Given the description of an element on the screen output the (x, y) to click on. 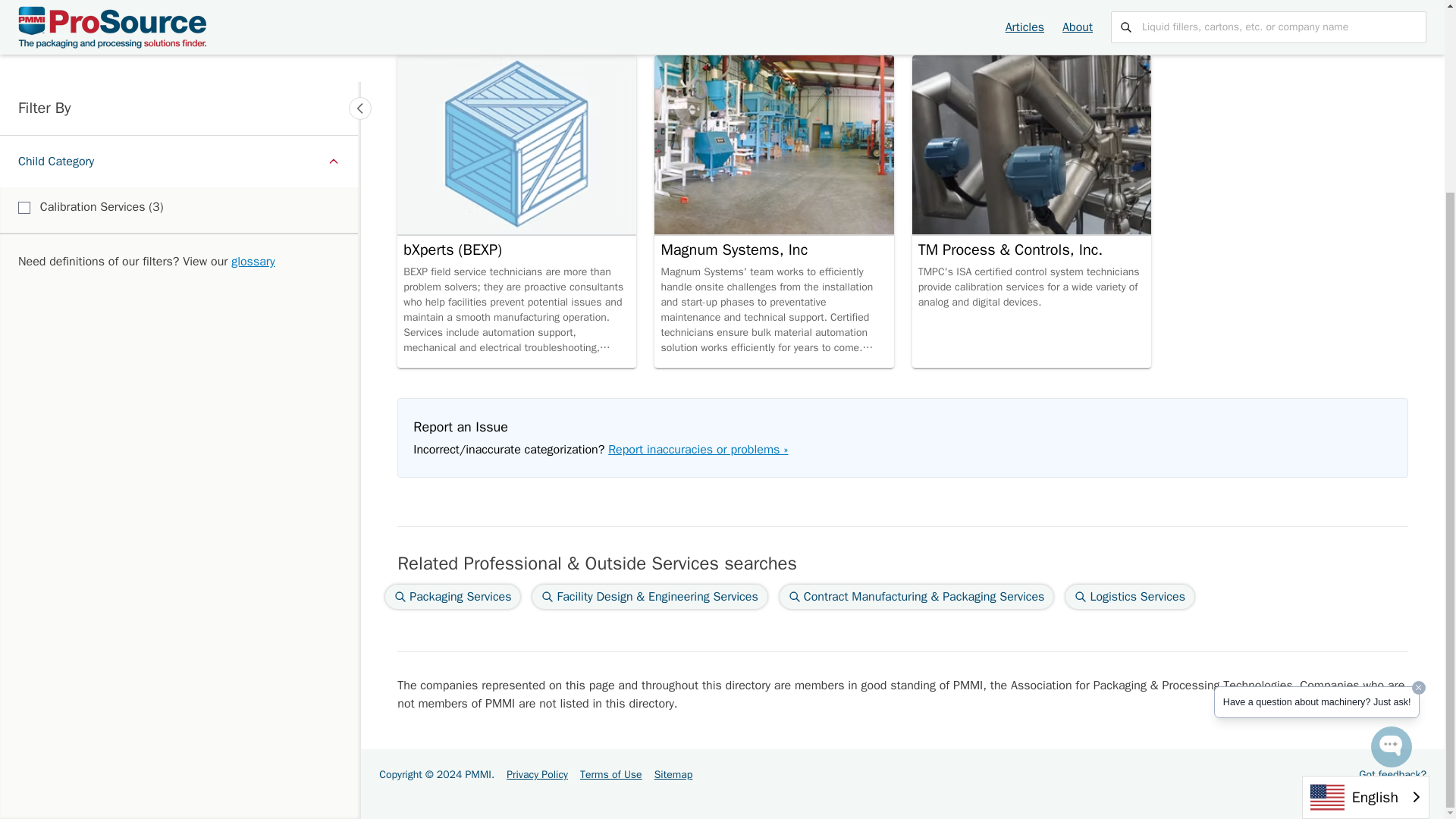
Privacy Policy (536, 774)
Logistics Services (1129, 596)
Got feedback? (1392, 774)
Packaging Services (452, 596)
Terms of Use (610, 774)
Sitemap (673, 774)
English (1365, 556)
glossary (253, 20)
